Given the description of an element on the screen output the (x, y) to click on. 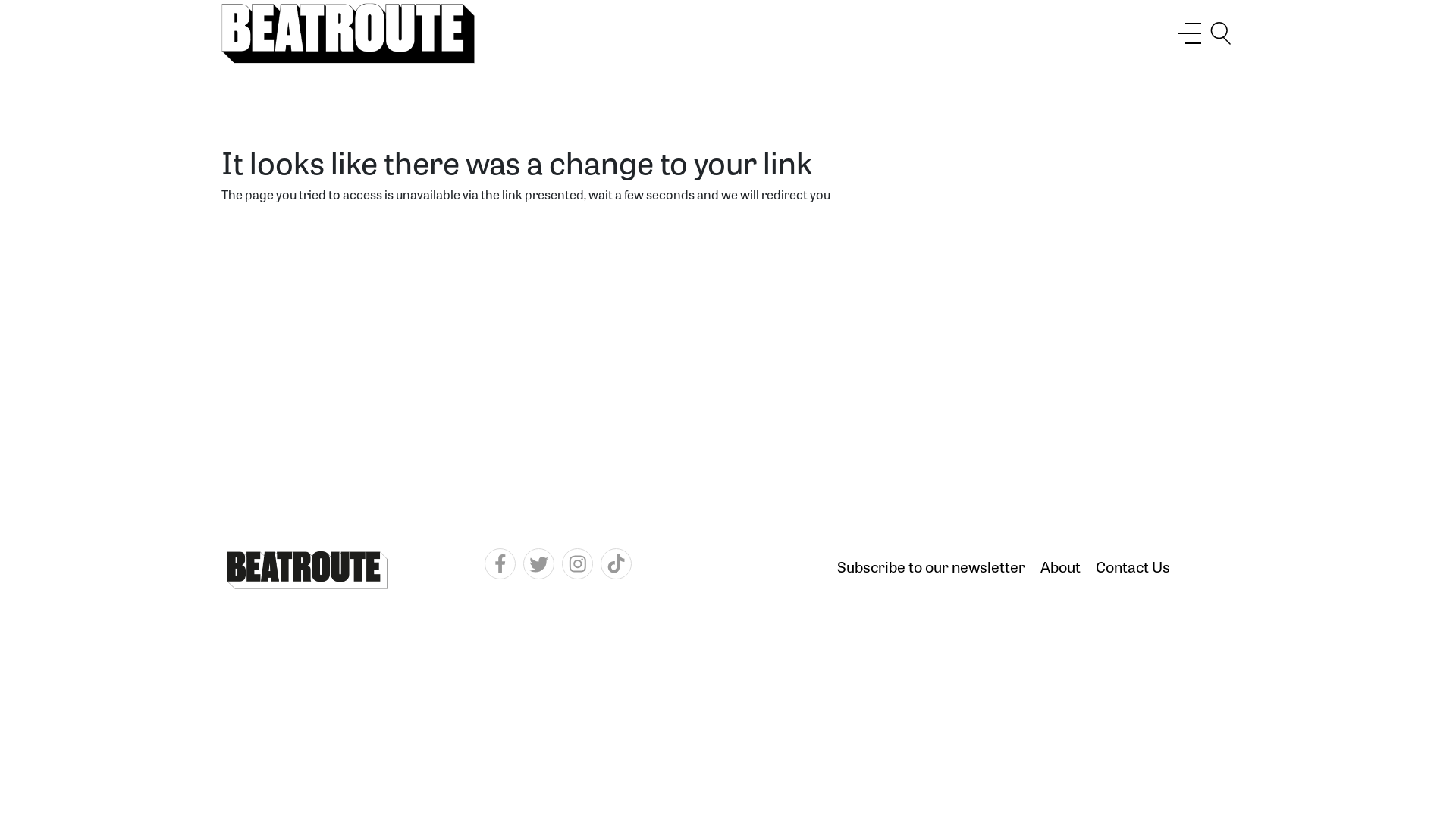
Subscribe to our newsletter Element type: text (931, 567)
About Element type: text (1060, 567)
Contact Us Element type: text (1132, 567)
